Given the description of an element on the screen output the (x, y) to click on. 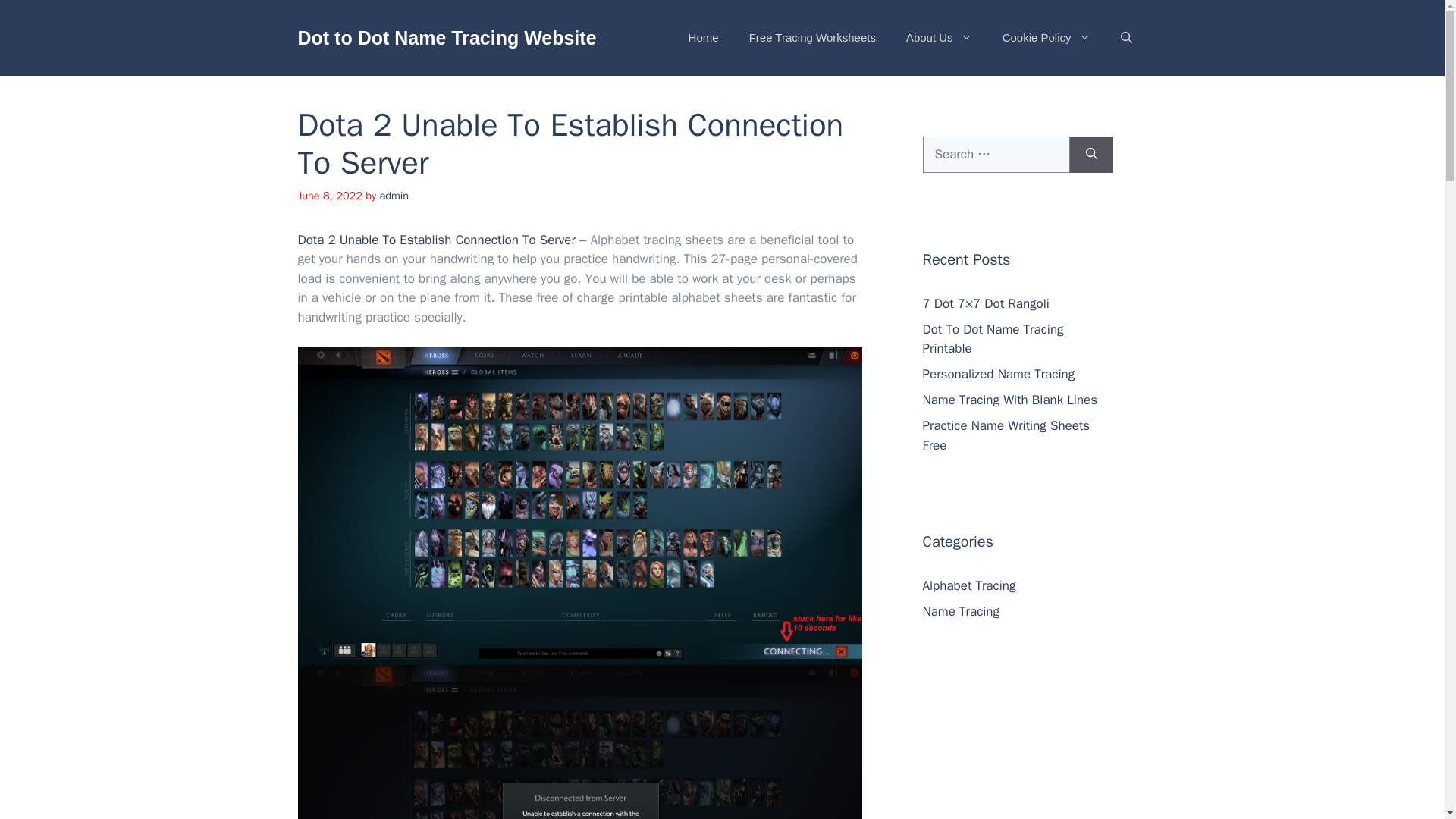
About Us (939, 37)
admin (393, 195)
Dot to Dot Name Tracing Website (446, 37)
Free Tracing Worksheets (812, 37)
Alphabet Tracing (967, 585)
Home (702, 37)
View all posts by admin (393, 195)
Name Tracing With Blank Lines (1009, 399)
Practice Name Writing Sheets Free (1005, 435)
Dota 2 Unable To Establish Connection To Server (436, 239)
Name Tracing (959, 611)
Cookie Policy (1046, 37)
Personalized Name Tracing (997, 374)
Search for: (994, 154)
Dot To Dot Name Tracing Printable (991, 339)
